Given the description of an element on the screen output the (x, y) to click on. 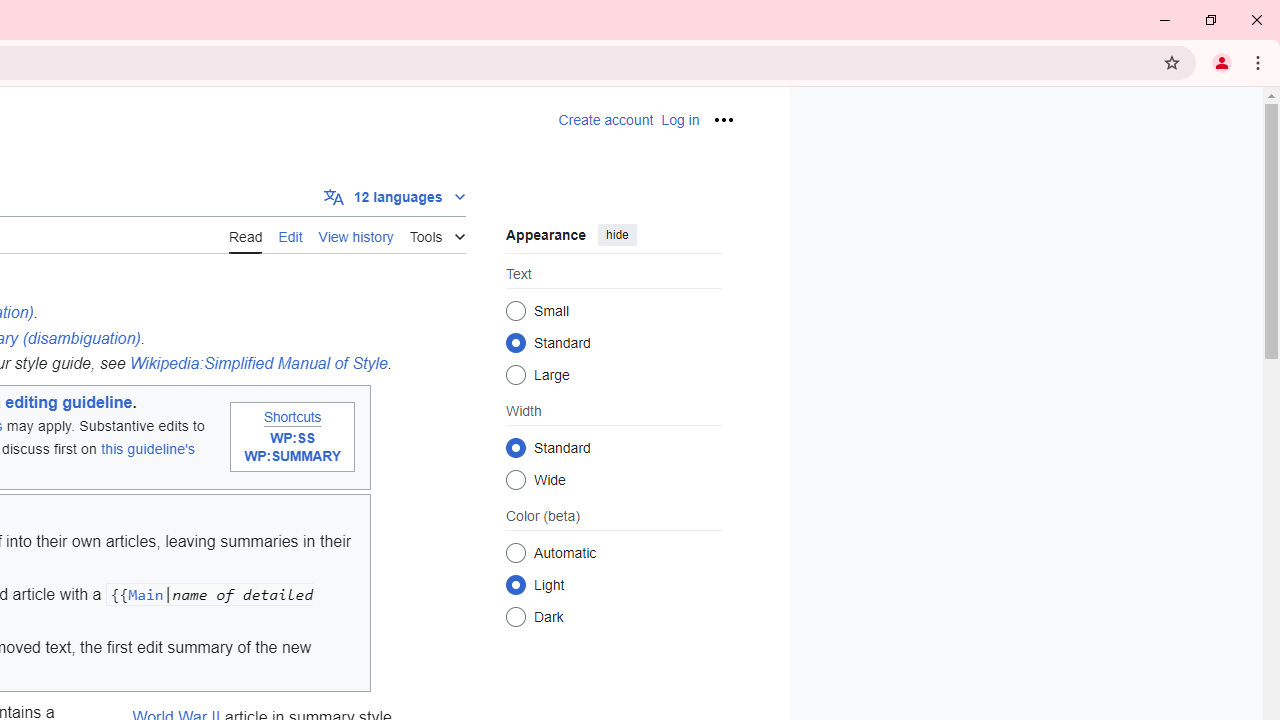
AutomationID: ca-history (355, 234)
Edit (290, 235)
